Given the description of an element on the screen output the (x, y) to click on. 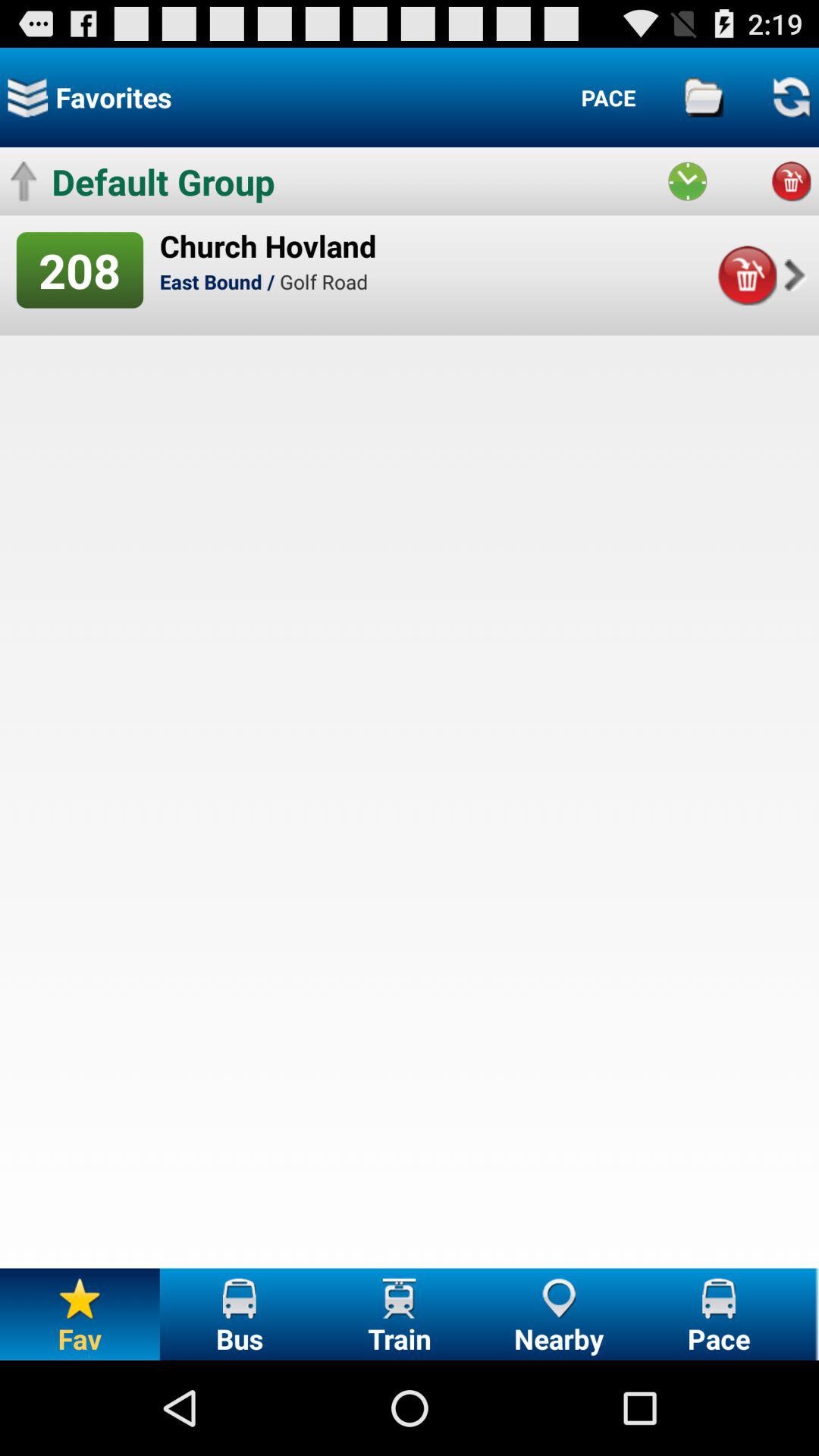
select the icon beside favorites (27, 97)
go to the clock icon beside the default group (687, 181)
click the icon left to the default group (24, 181)
click on the icon which is on top right corner (791, 97)
